Given the description of an element on the screen output the (x, y) to click on. 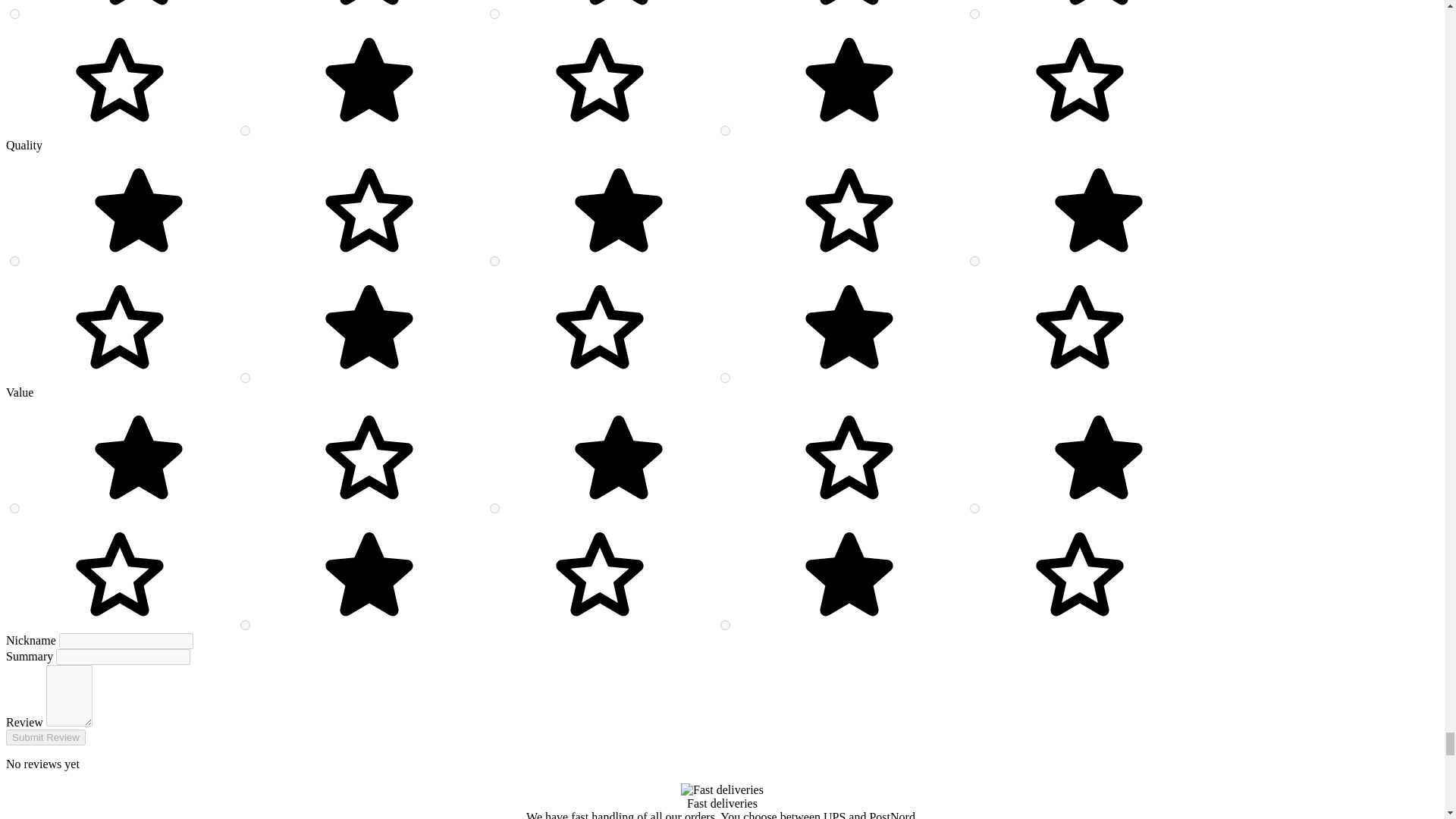
5 (15, 261)
13 (974, 13)
15 (15, 13)
11 (725, 130)
5 stars (964, 131)
6 (725, 624)
1 star (255, 14)
8 (974, 508)
1 star (255, 261)
7 (245, 624)
12 (245, 130)
4 (494, 261)
9 (494, 508)
3 (974, 261)
14 (494, 13)
